Given the description of an element on the screen output the (x, y) to click on. 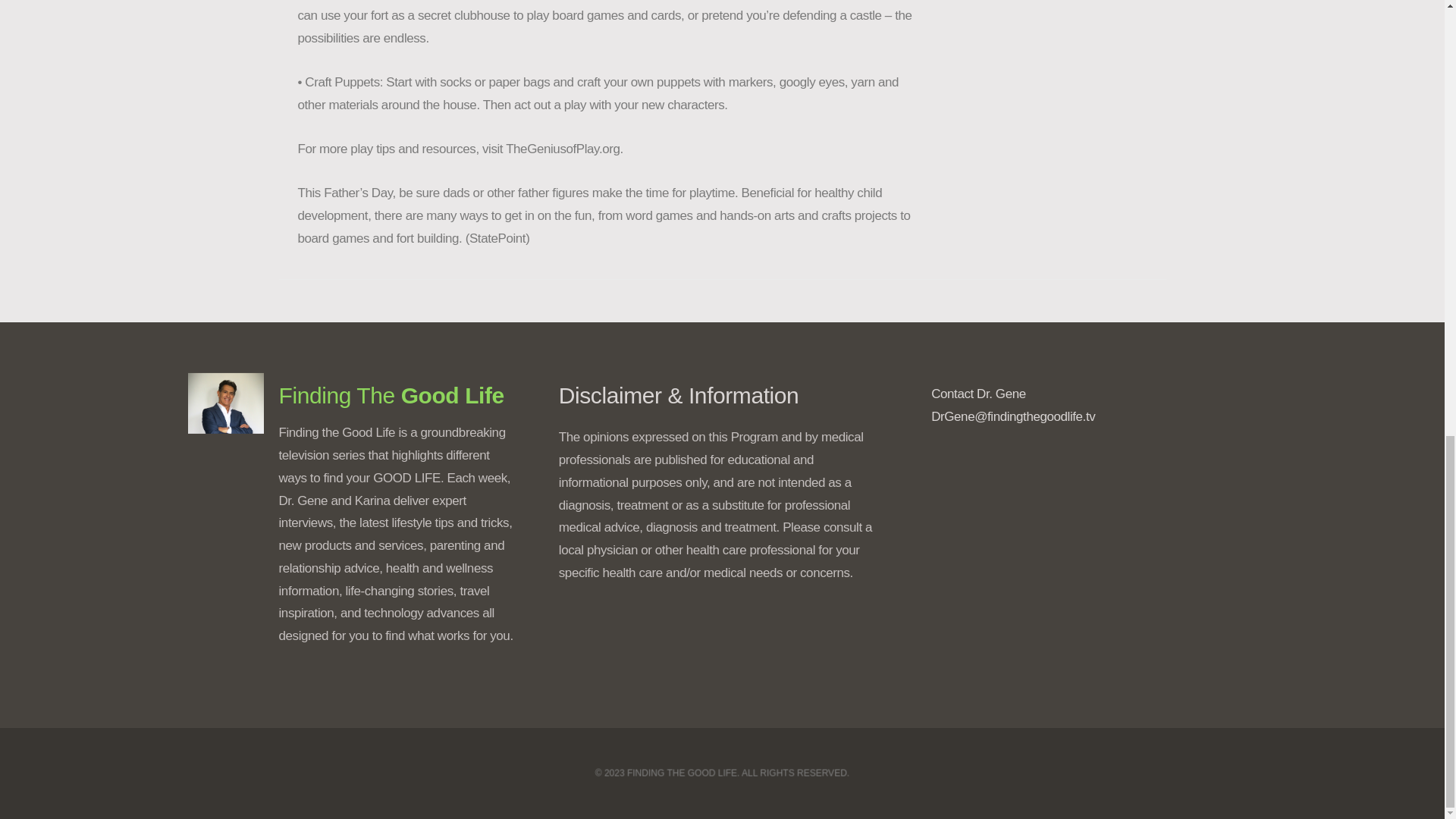
Finding The Good Life (391, 395)
